Given the description of an element on the screen output the (x, y) to click on. 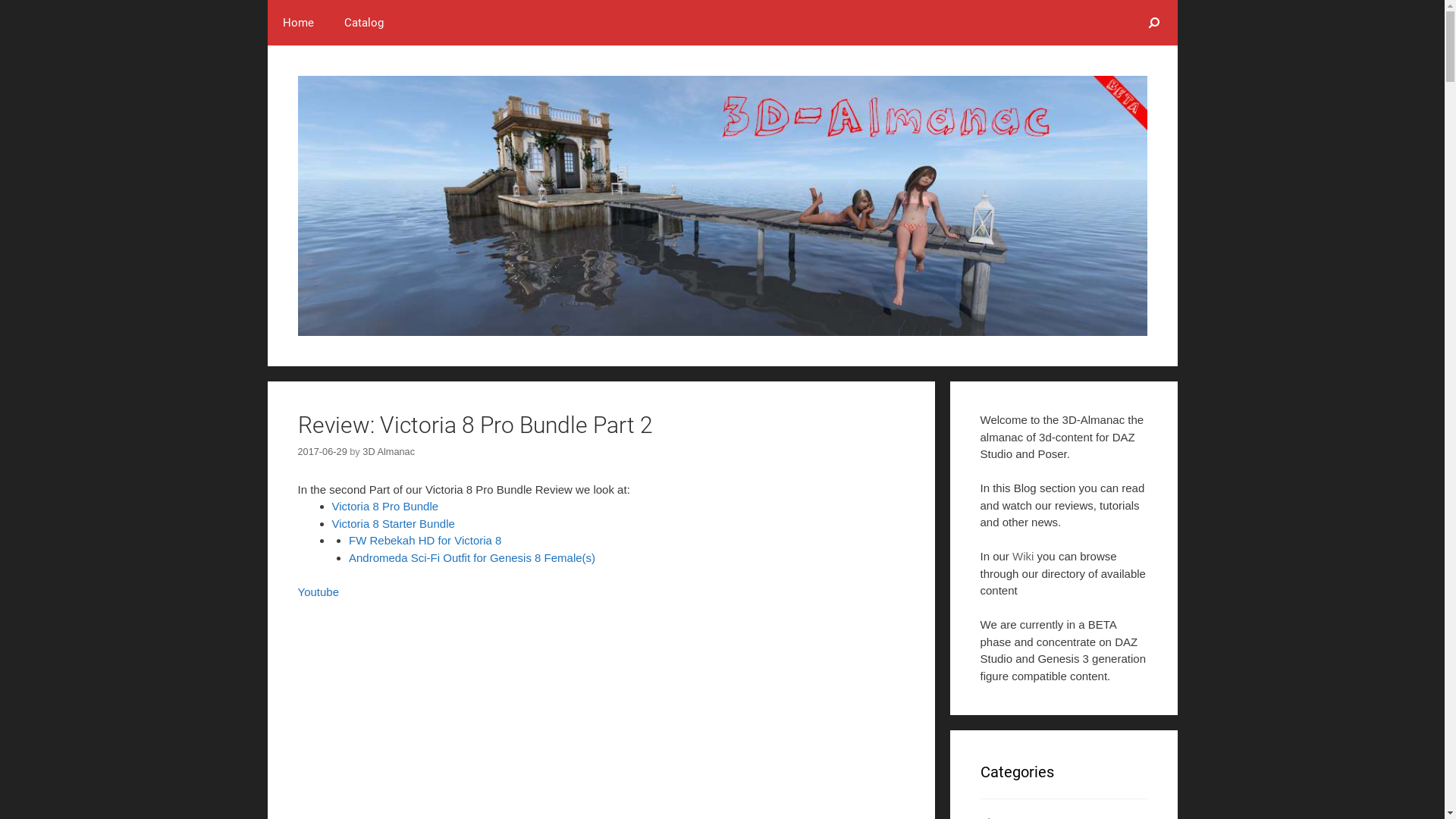
Skip to content Element type: text (37, 8)
2017-06-29 Element type: text (321, 451)
FW Rebekah HD for Victoria 8 Element type: text (424, 539)
Review: Victoria 8 Pro Bundle Part 2 Element type: text (474, 424)
3D-Almanac Element type: hover (721, 205)
Wiki Element type: text (1022, 555)
Catalog Element type: text (363, 22)
Andromeda Sci-Fi Outfit for Genesis 8 Female(s) Element type: text (471, 557)
Victoria 8 Pro Bundle Element type: text (385, 505)
3D-Almanac Element type: hover (721, 204)
Home Element type: text (297, 22)
Search Element type: text (1154, 22)
Victoria 8 Starter Bundle  Element type: text (395, 523)
Youtube Element type: text (317, 591)
3D Almanac Element type: text (388, 451)
